Given the description of an element on the screen output the (x, y) to click on. 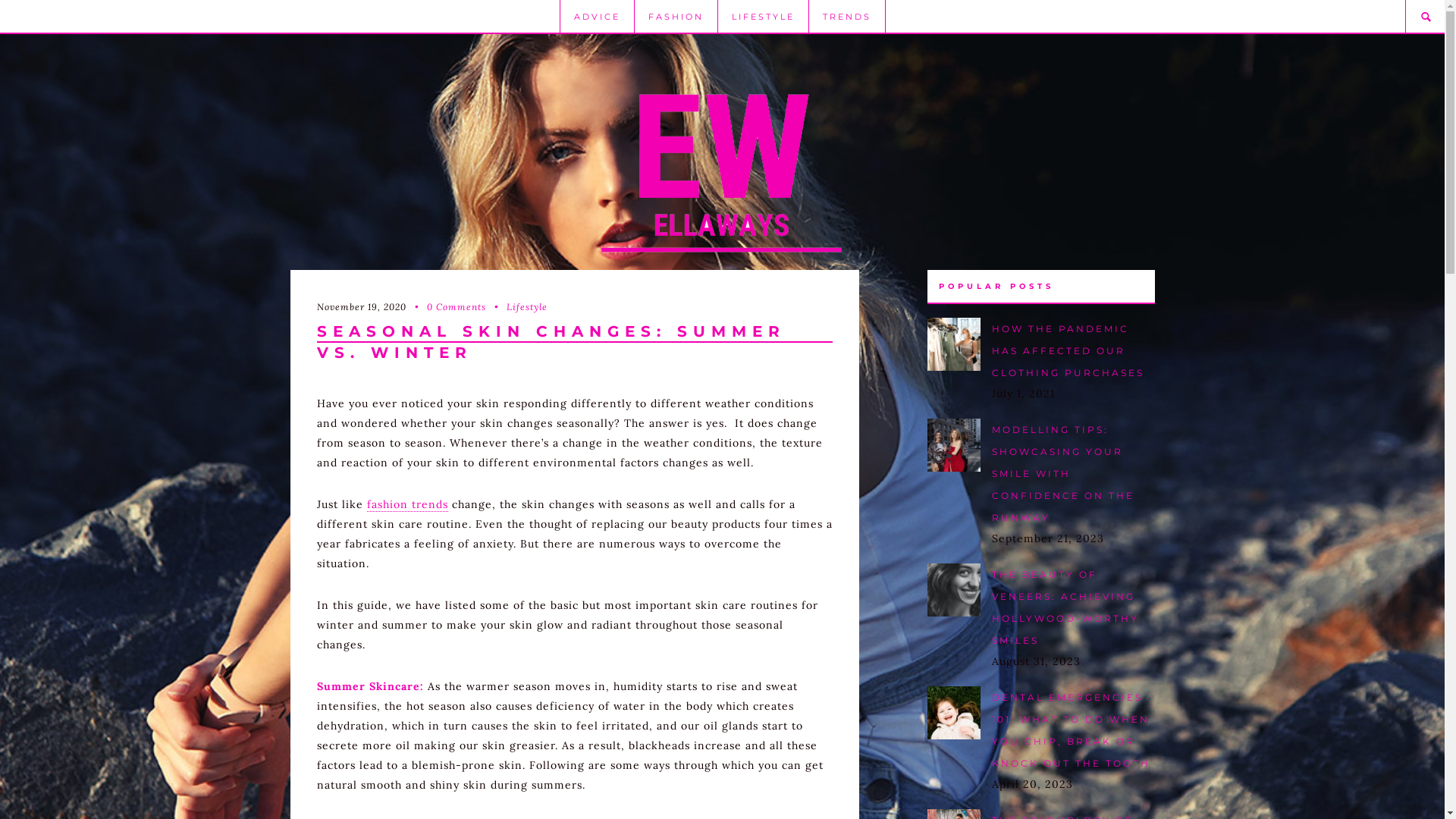
THE BEAUTY OF VENEERS: ACHIEVING HOLLYWOOD-WORTHY SMILES Element type: text (1065, 607)
0 Comments Element type: text (447, 306)
ADVICE Element type: text (596, 16)
HOW THE PANDEMIC HAS AFFECTED OUR CLOTHING PURCHASES Element type: text (1067, 350)
FASHION Element type: text (675, 16)
LIFESTYLE Element type: text (762, 16)
TRENDS Element type: text (846, 16)
fashion trends Element type: text (407, 504)
Lifestyle Element type: text (517, 306)
